Given the description of an element on the screen output the (x, y) to click on. 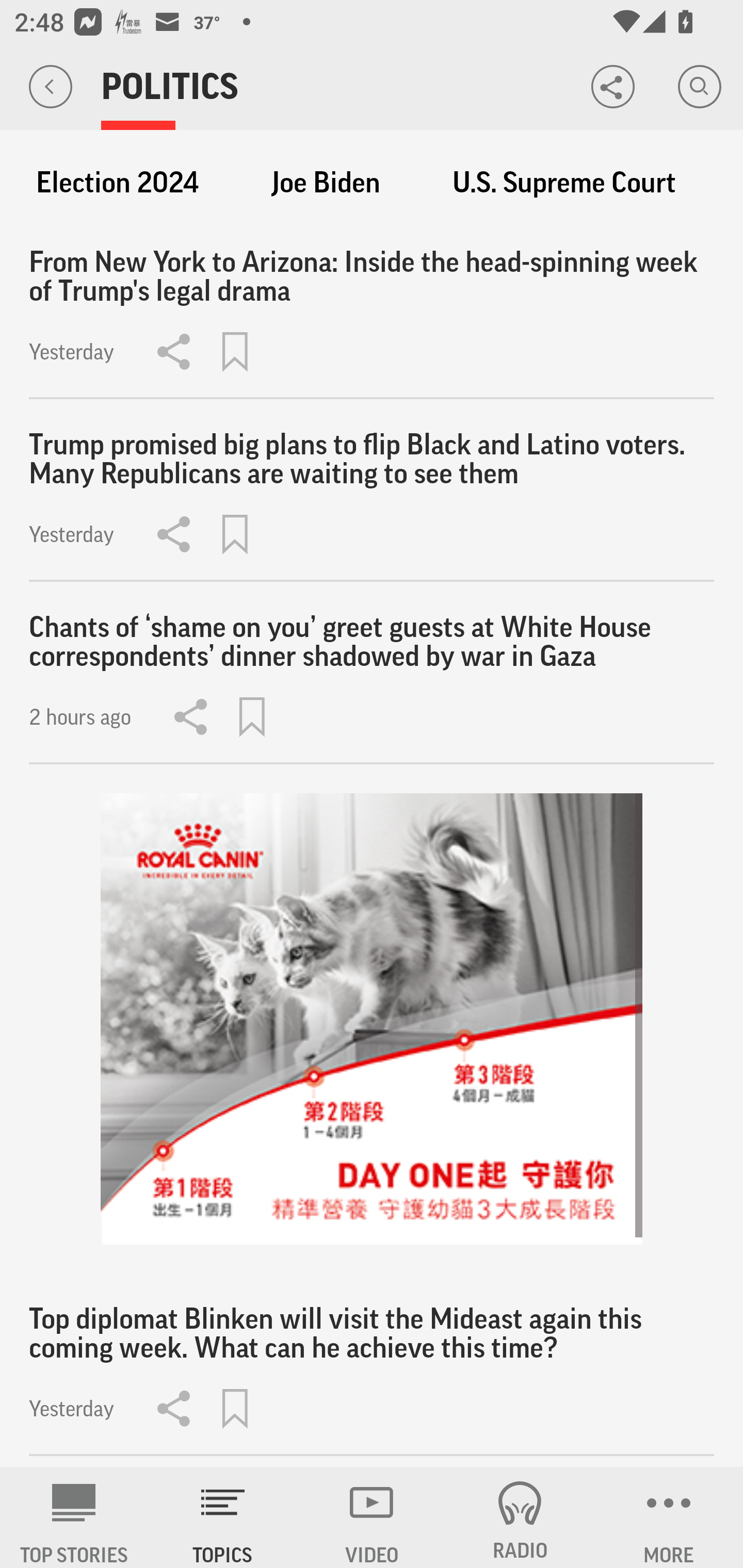
Election 2024 (116, 182)
Joe Biden (325, 182)
U.S. Supreme Court (564, 182)
ooulh2nc_300x250 (371, 1018)
AP News TOP STORIES (74, 1517)
TOPICS (222, 1517)
VIDEO (371, 1517)
RADIO (519, 1517)
MORE (668, 1517)
